Given the description of an element on the screen output the (x, y) to click on. 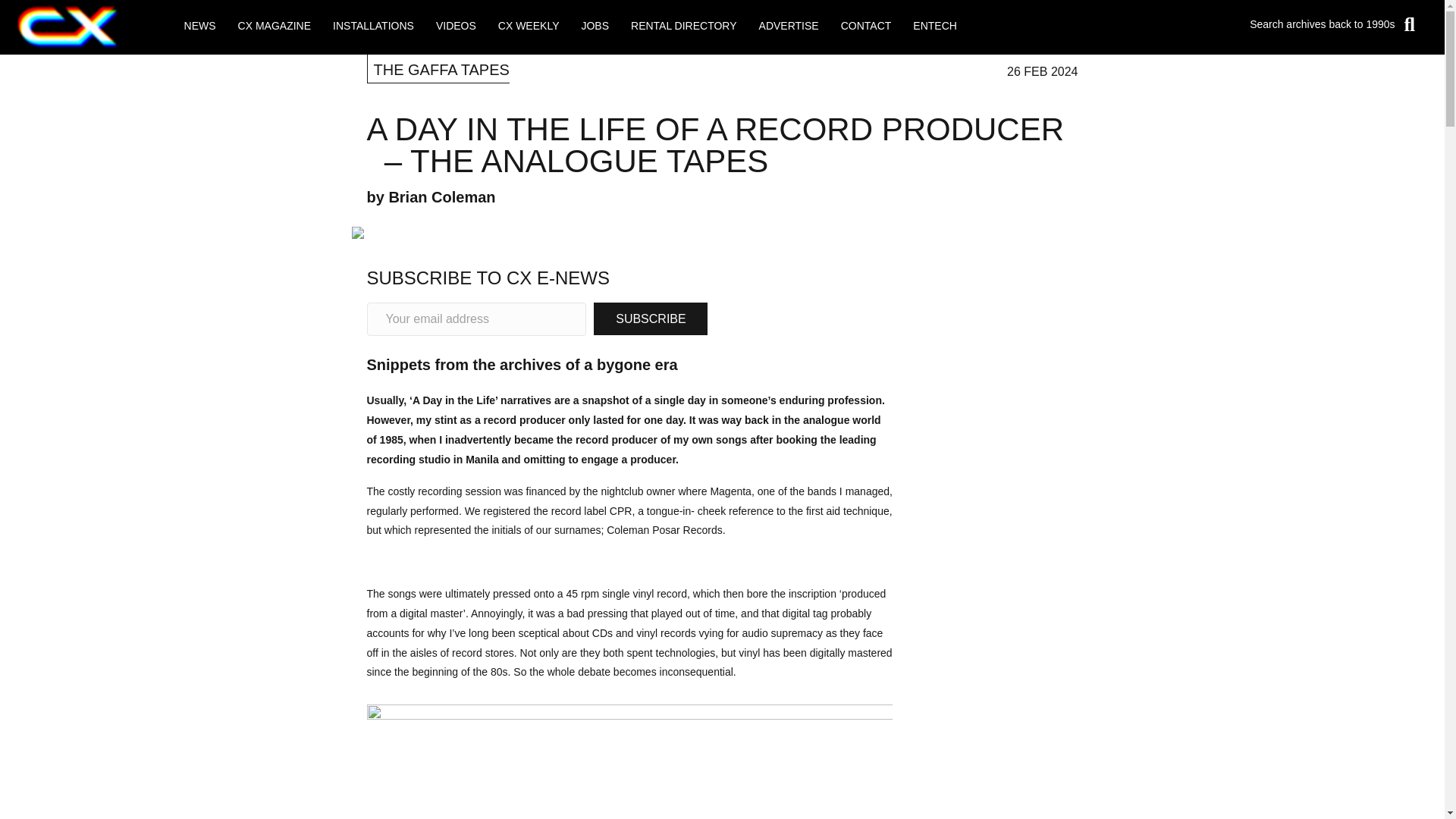
SUBSCRIBE (650, 318)
VIDEOS (455, 25)
RENTAL DIRECTORY (684, 25)
CX WEEKLY (528, 25)
NEWS (200, 25)
JOBS (595, 25)
CX MAGAZINE (274, 25)
INSTALLATIONS (373, 25)
Search archives back to 1990s (1270, 25)
CONTACT (865, 25)
